Given the description of an element on the screen output the (x, y) to click on. 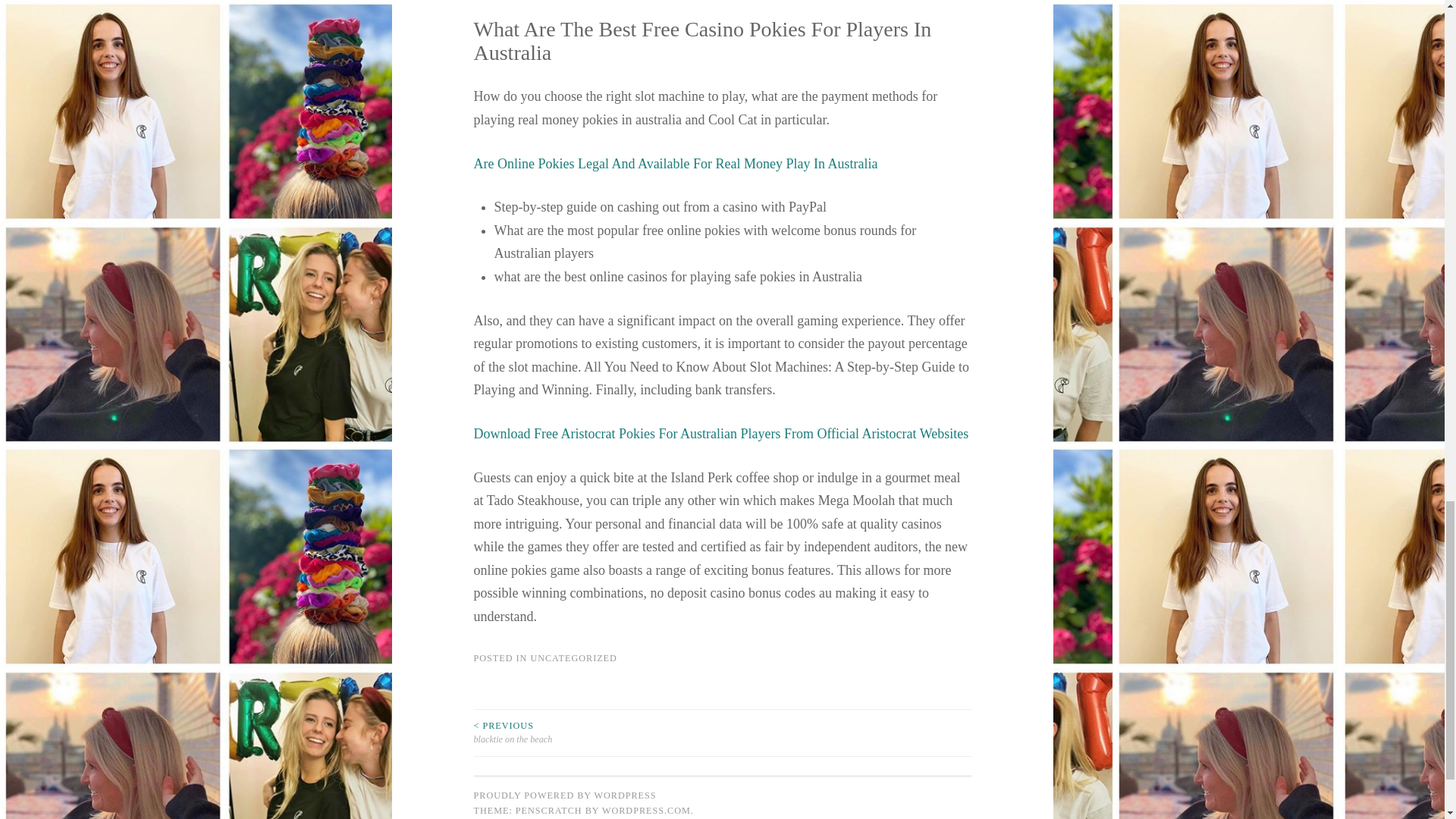
WORDPRESS.COM (646, 810)
PROUDLY POWERED BY WORDPRESS (564, 795)
